Given the description of an element on the screen output the (x, y) to click on. 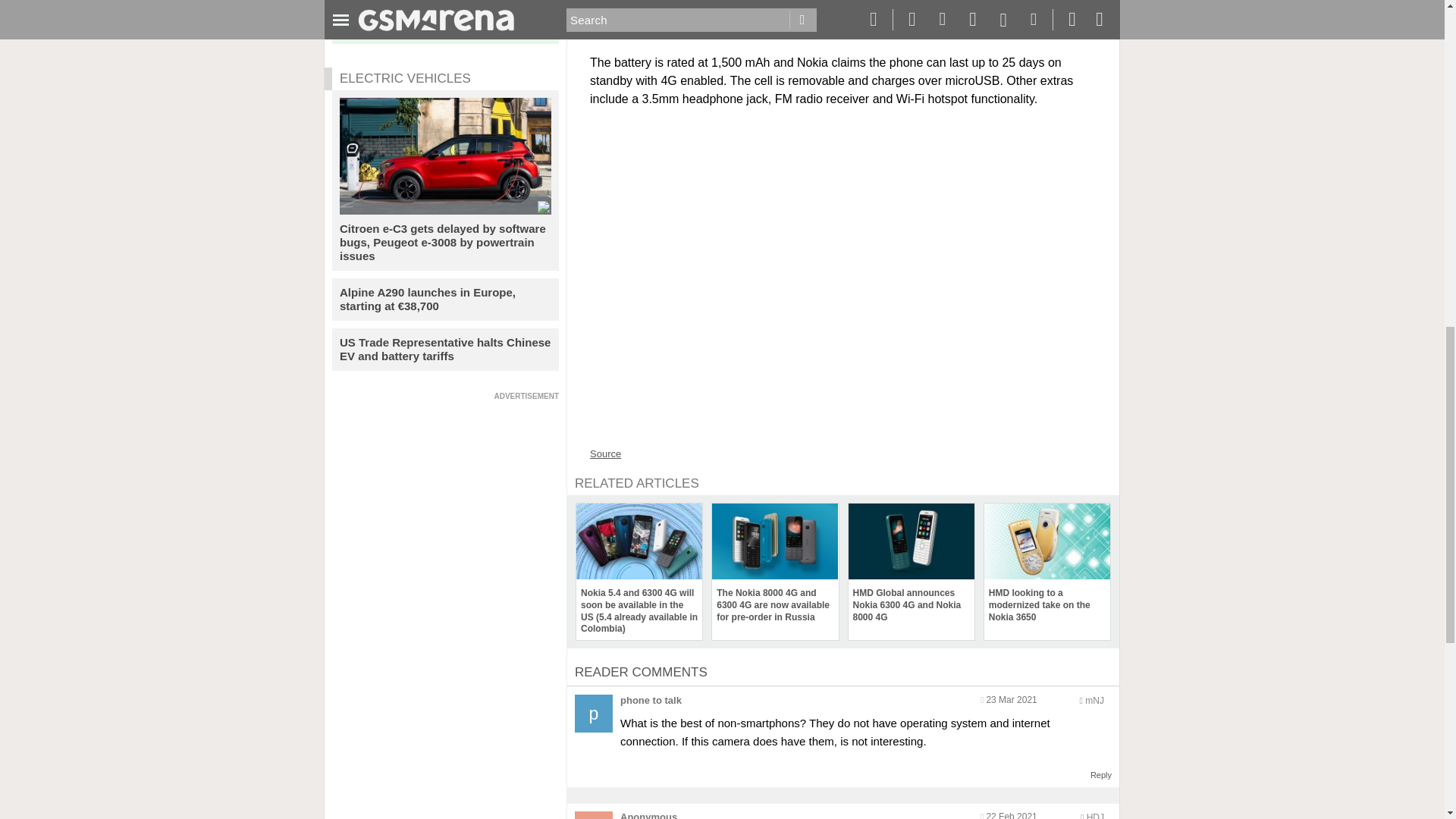
Encoded anonymized location (1093, 700)
Encoded anonymized location (1094, 815)
Reply to this post (1101, 774)
